Given the description of an element on the screen output the (x, y) to click on. 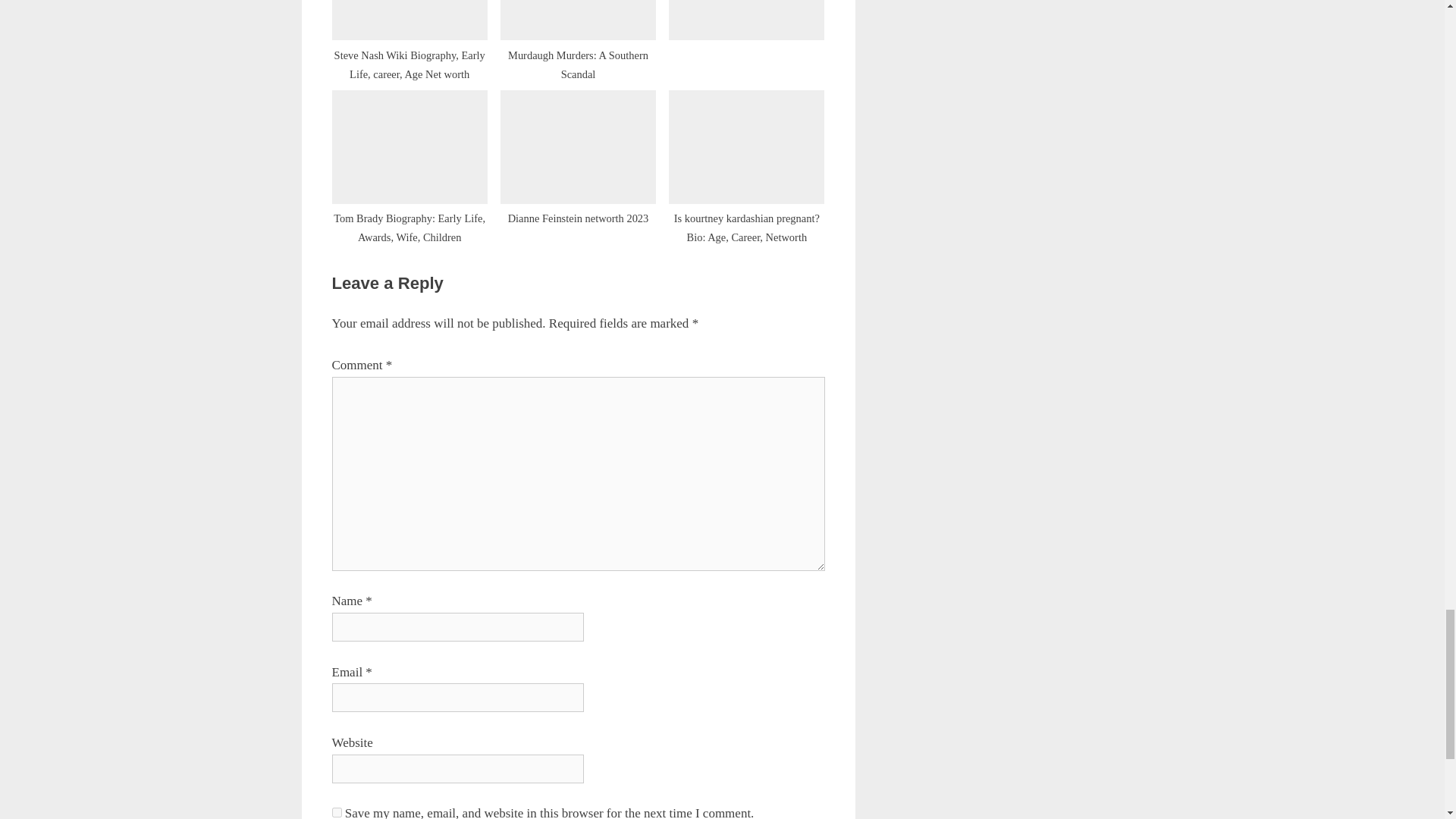
yes (336, 812)
